Given the description of an element on the screen output the (x, y) to click on. 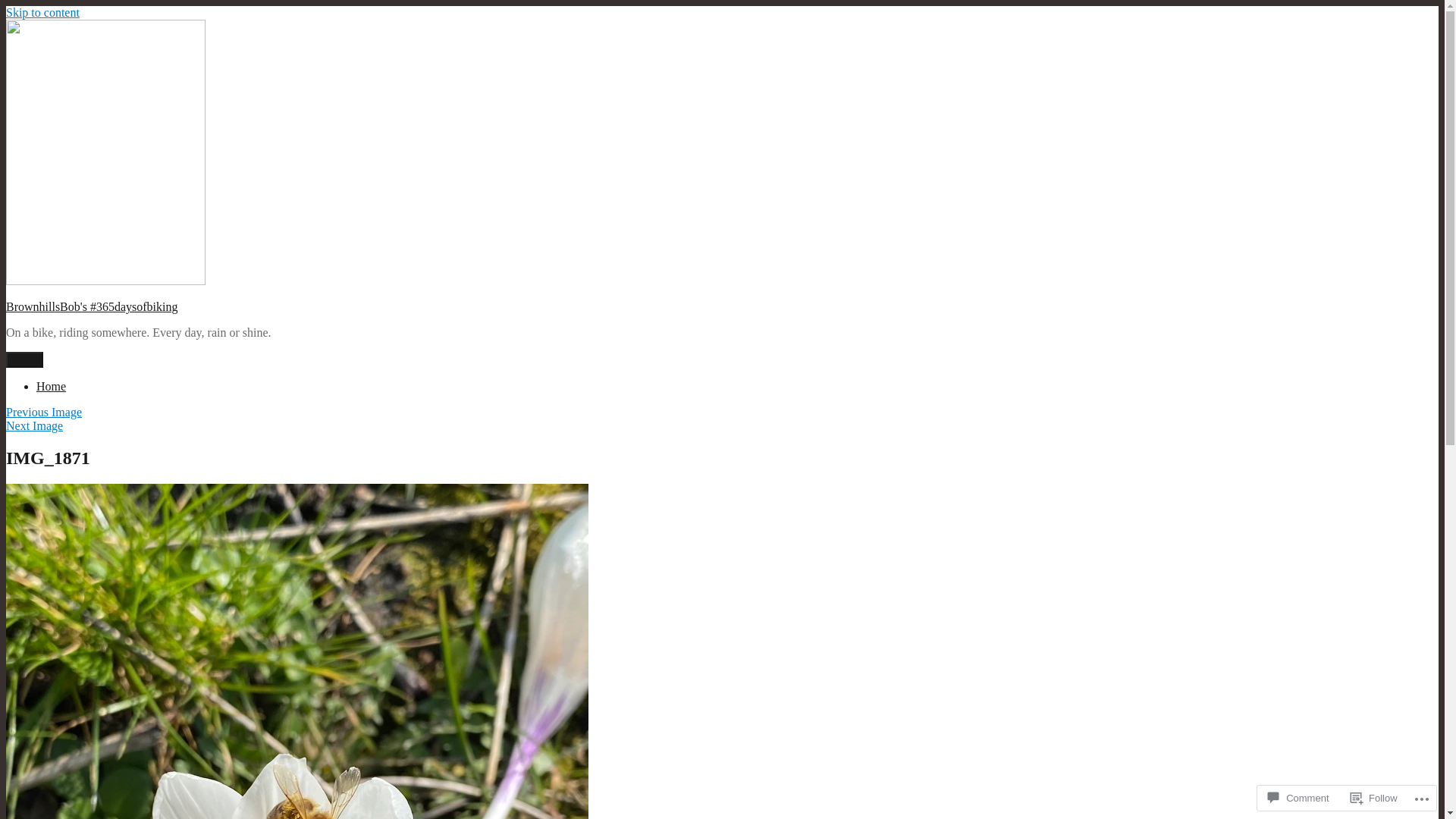
Home Element type: text (50, 385)
Menu Element type: text (24, 359)
Previous Image Element type: text (43, 411)
Follow Element type: text (1373, 797)
Skip to content Element type: text (42, 12)
Next Image Element type: text (34, 425)
BrownhillsBob's #365daysofbiking Element type: text (91, 306)
Comment Element type: text (1297, 797)
